Given the description of an element on the screen output the (x, y) to click on. 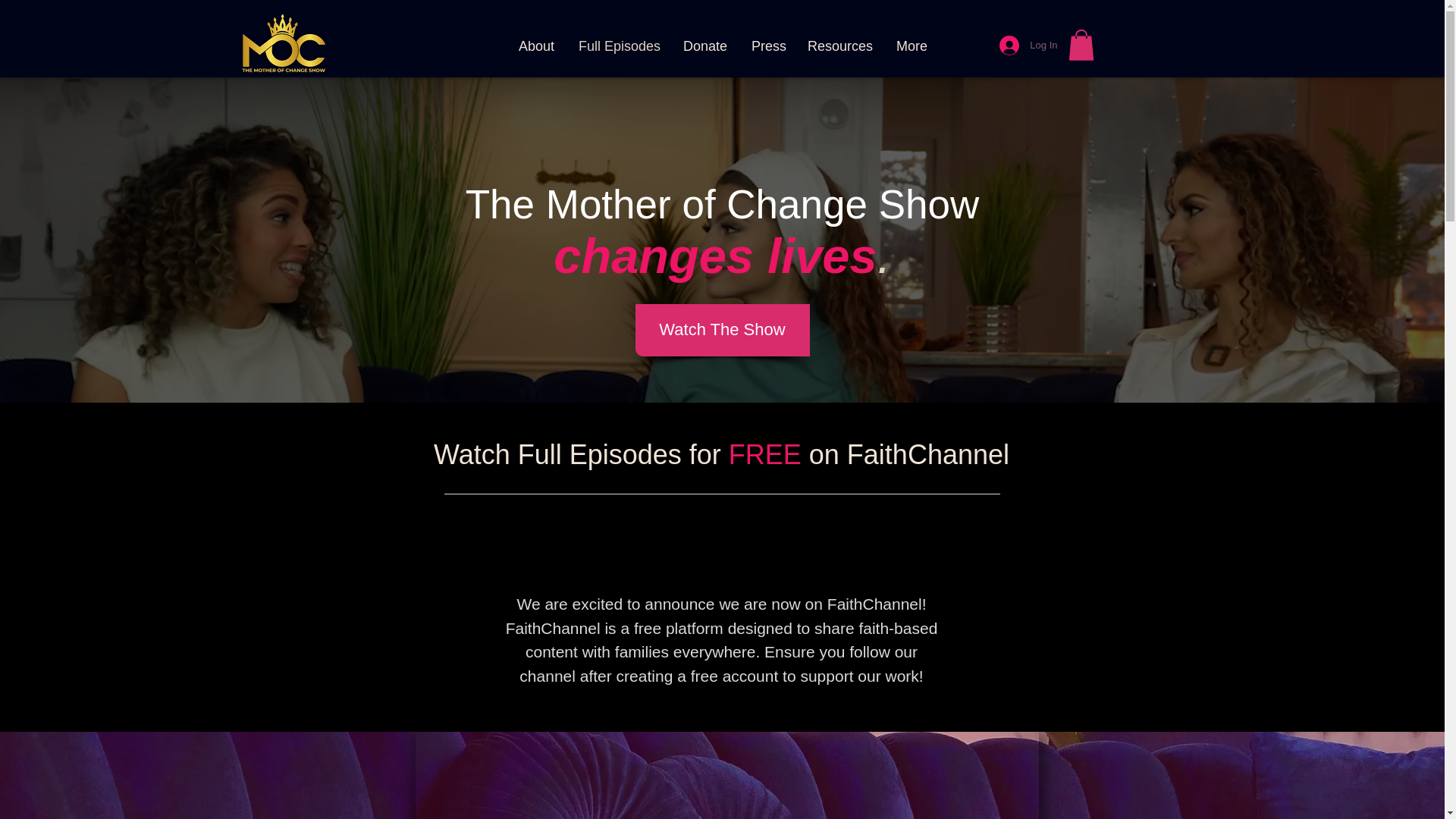
Log In (1027, 45)
Full Episodes (618, 46)
Watch The Show (721, 329)
About (536, 46)
Press (767, 46)
